Given the description of an element on the screen output the (x, y) to click on. 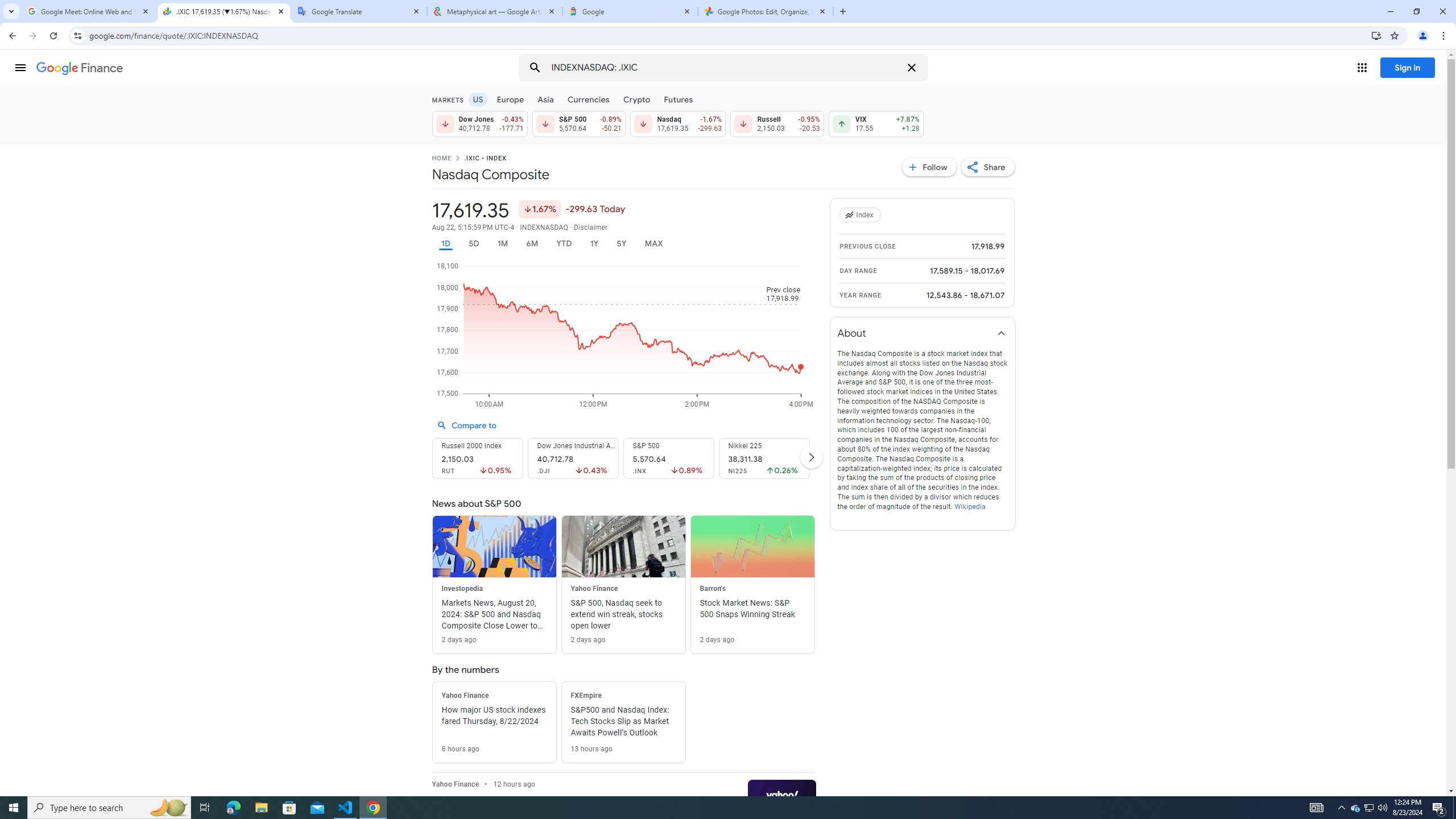
Disclaimer (590, 227)
Finance (79, 68)
Nasdaq 17,619.35 Down by 1.67% -299.63 (678, 123)
Crypto (636, 99)
5D (473, 243)
Europe (510, 99)
